Given the description of an element on the screen output the (x, y) to click on. 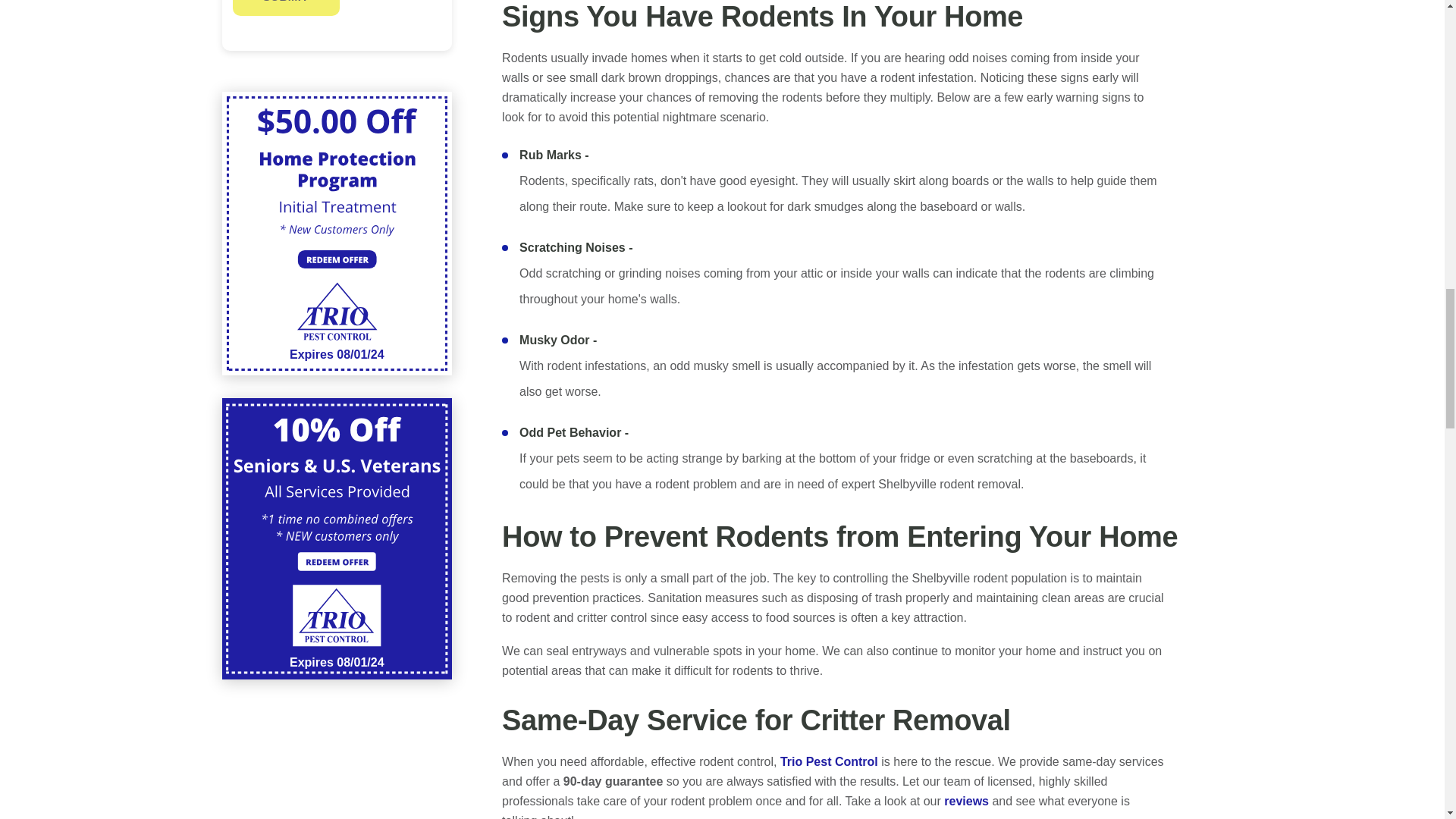
Submit (285, 7)
